Given the description of an element on the screen output the (x, y) to click on. 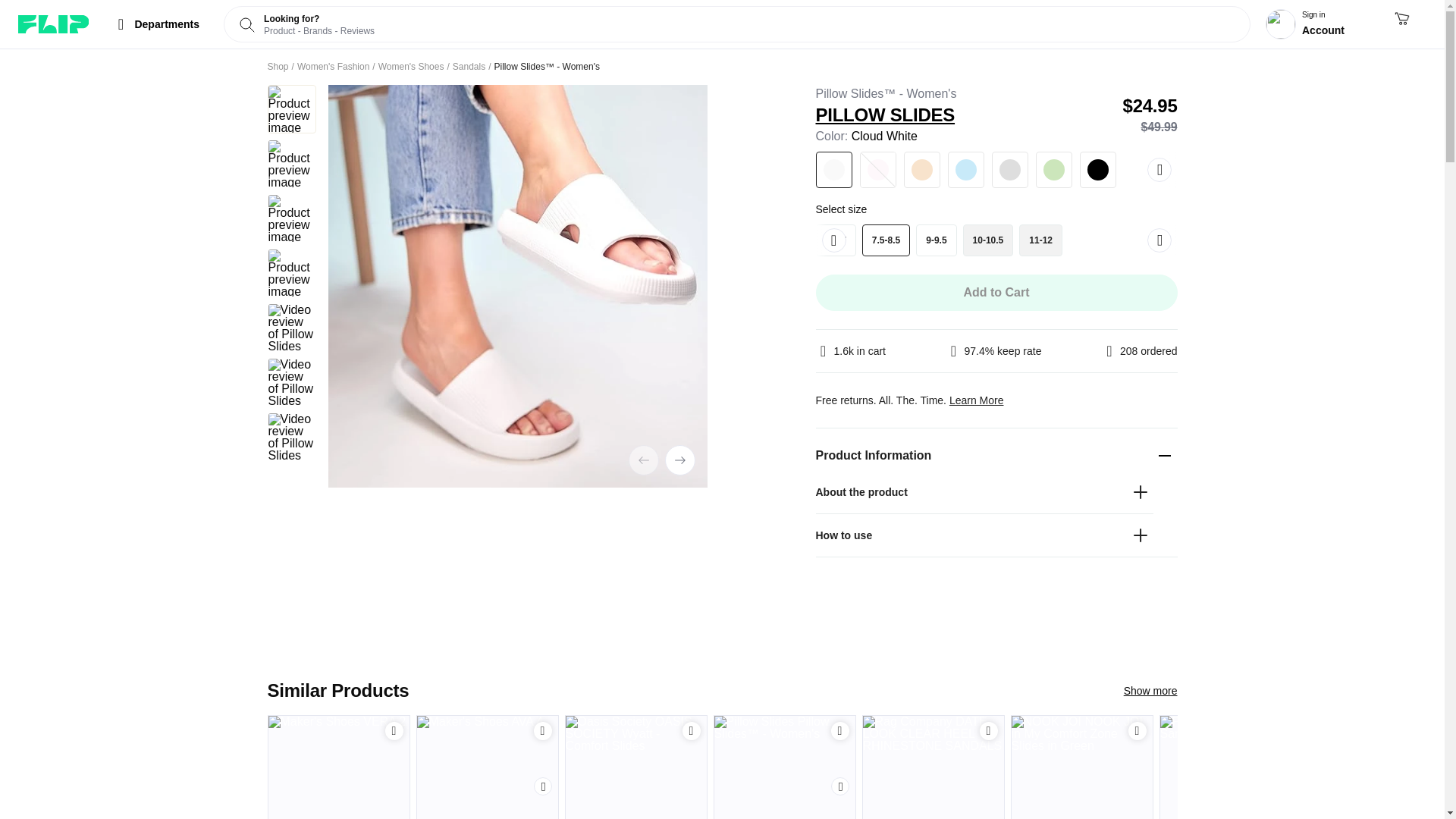
Maker's Shoes AVA 4 (486, 767)
Flip feed (52, 24)
Maker's Shoes VERA 2 (338, 767)
Women's Shoes (411, 66)
Oasis Society OASIS SOCIETY Wyatt - Comfort Slides (636, 767)
Add to Cart (691, 730)
Departments (155, 23)
Add to Cart (542, 730)
11-12 (1040, 240)
Add to Cart (394, 730)
